Given the description of an element on the screen output the (x, y) to click on. 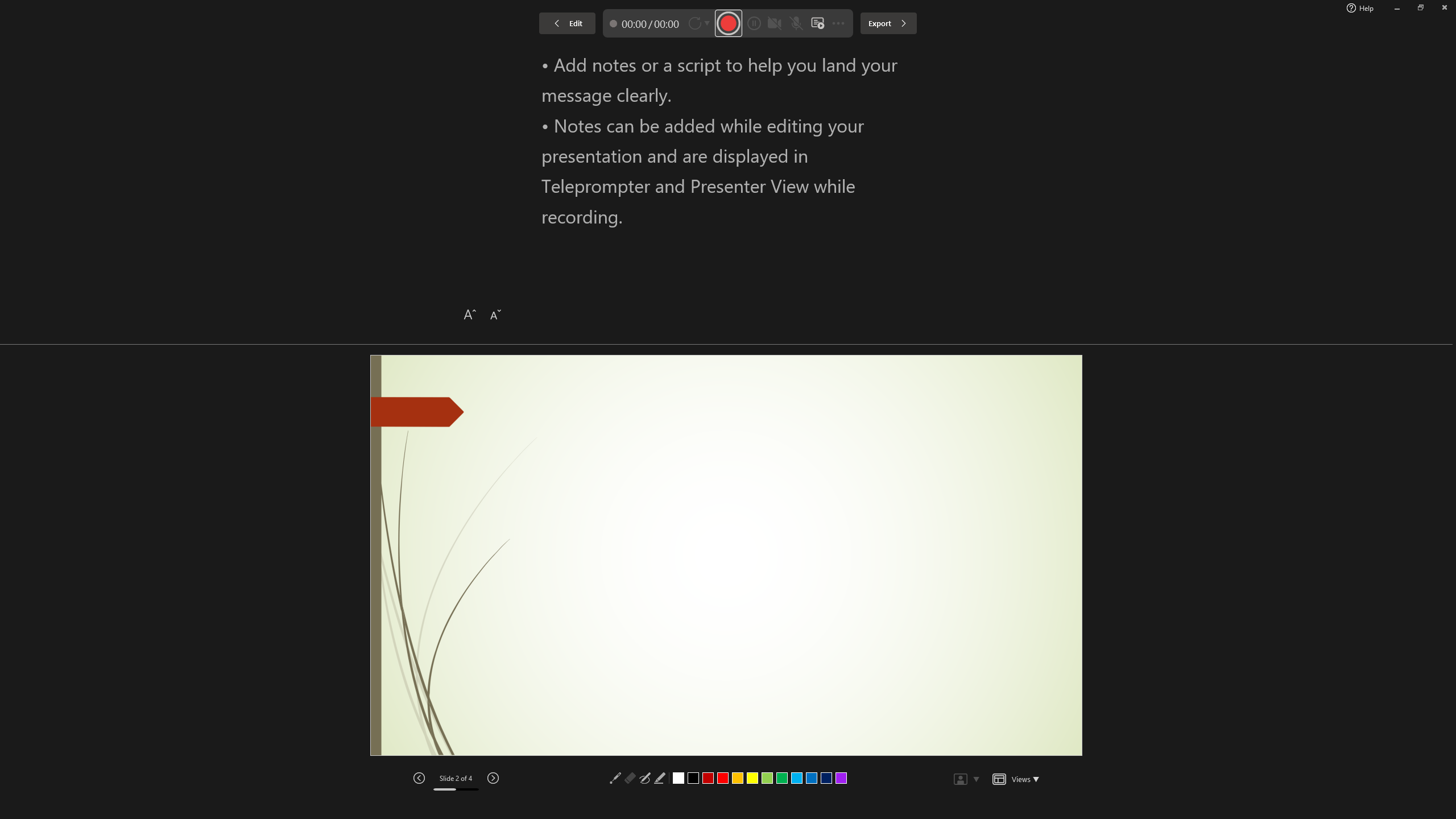
From Current Slide... (127, 58)
Insert Table (945, 482)
Zoom 154% (1430, 790)
Insert Chart (965, 482)
